Given the description of an element on the screen output the (x, y) to click on. 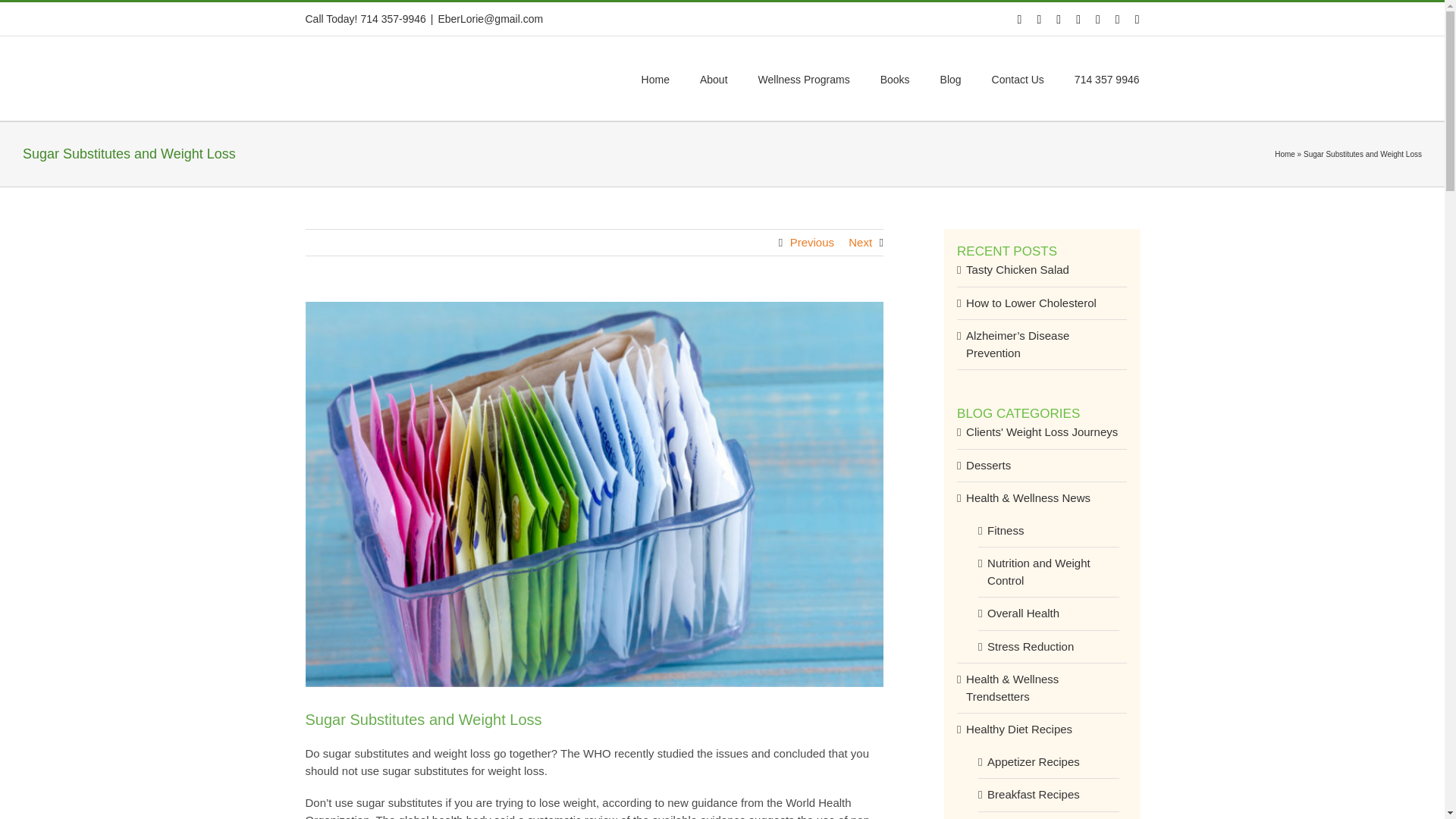
Wellness Programs (804, 78)
Previous (812, 242)
Home (1285, 153)
Next (860, 242)
